Given the description of an element on the screen output the (x, y) to click on. 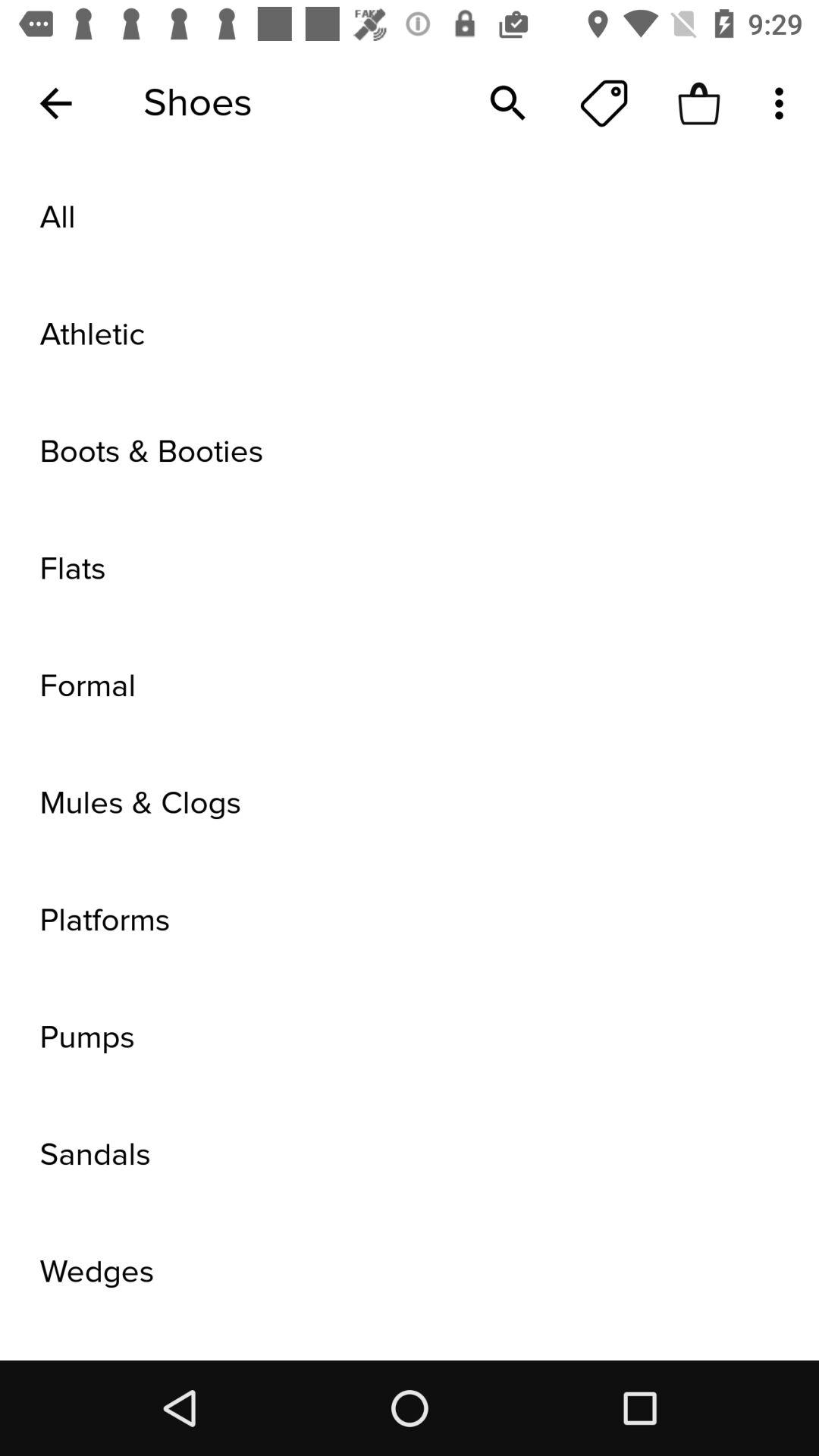
scroll until platforms item (409, 920)
